Given the description of an element on the screen output the (x, y) to click on. 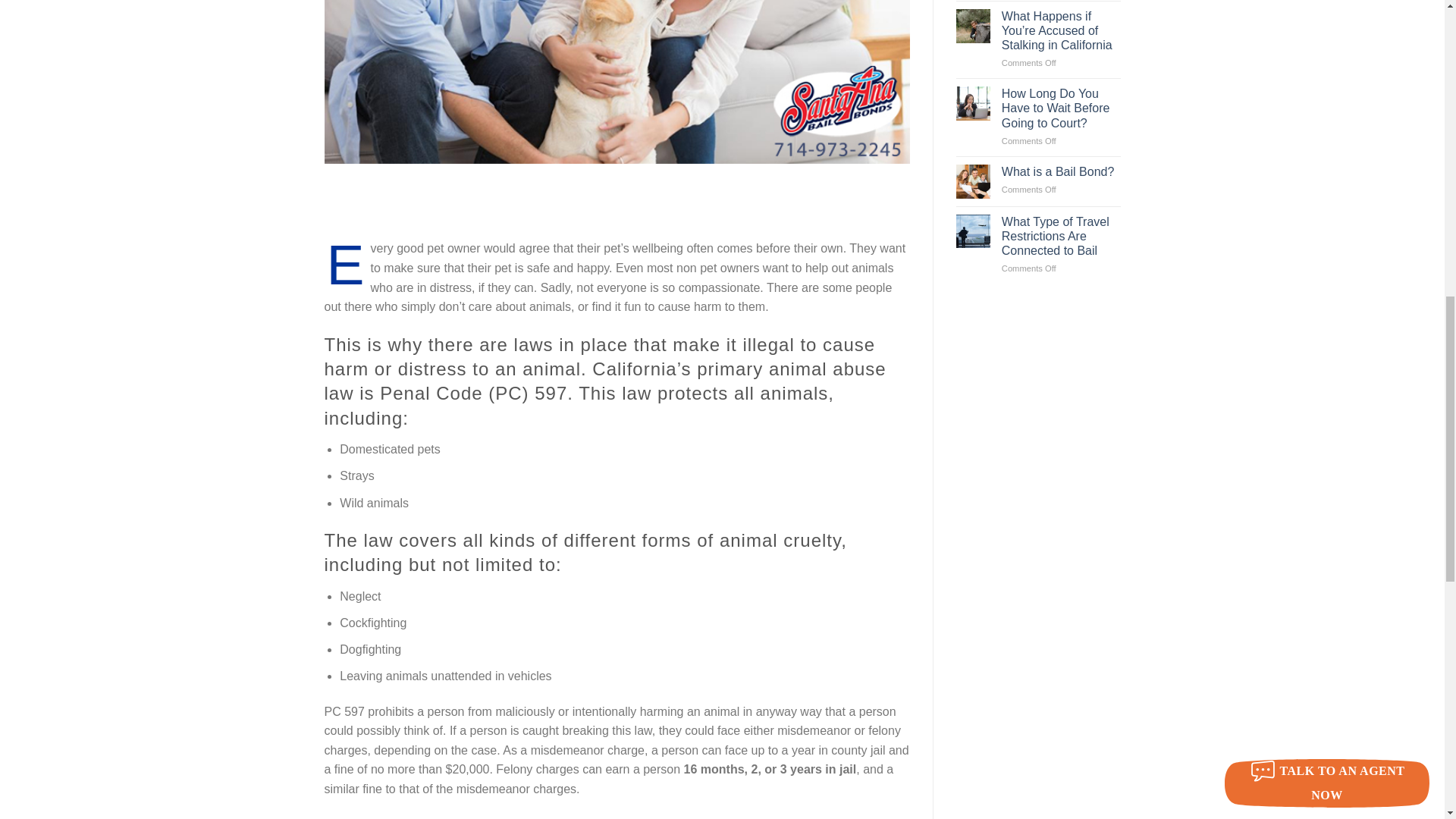
How Long Do You Have to Wait Before Going to Court? (1061, 108)
What Type of Travel Restrictions Are Connected to Bail (1061, 236)
What is a Bail Bond? (1061, 171)
